Given the description of an element on the screen output the (x, y) to click on. 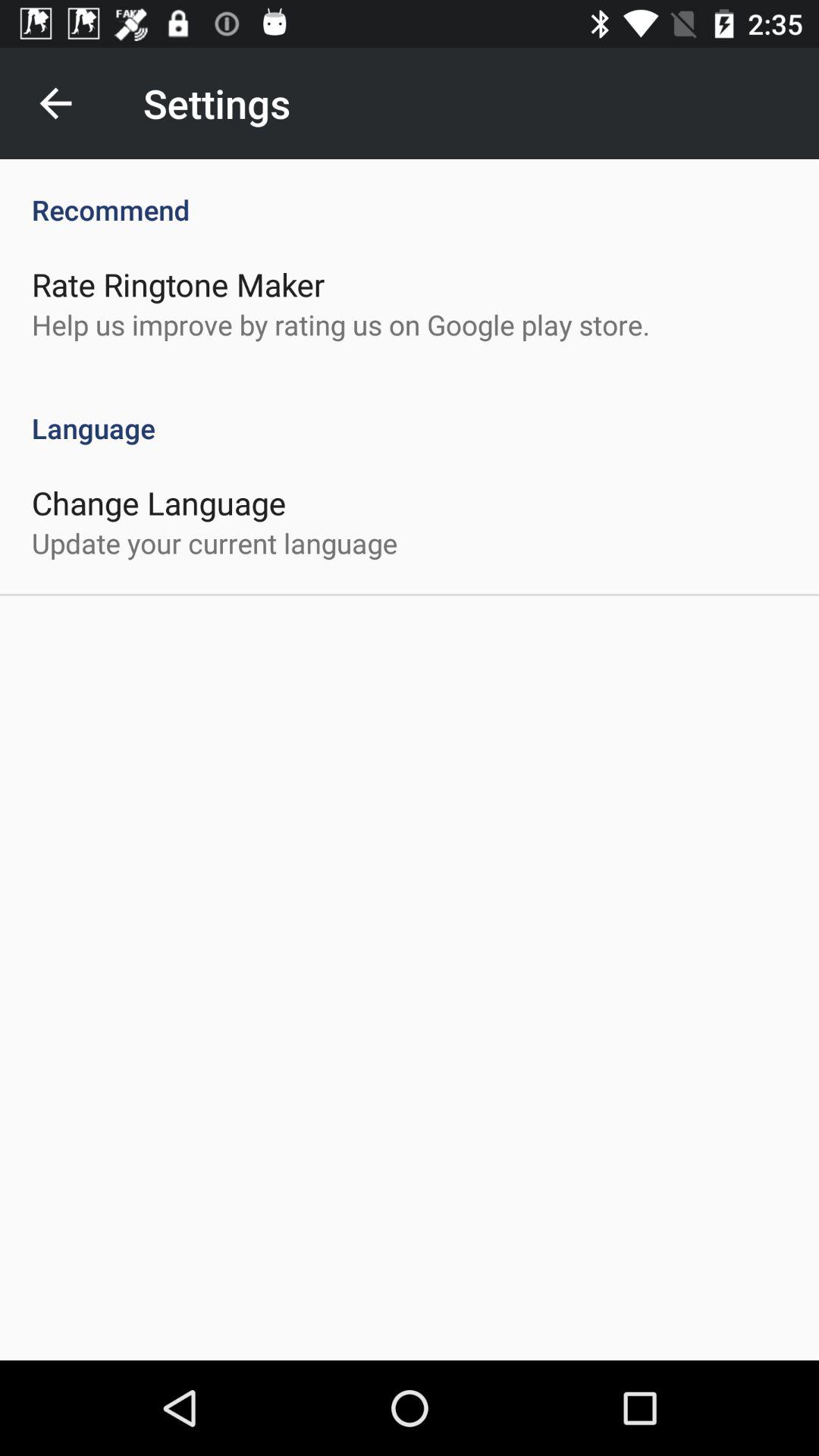
swipe to the recommend item (409, 193)
